Given the description of an element on the screen output the (x, y) to click on. 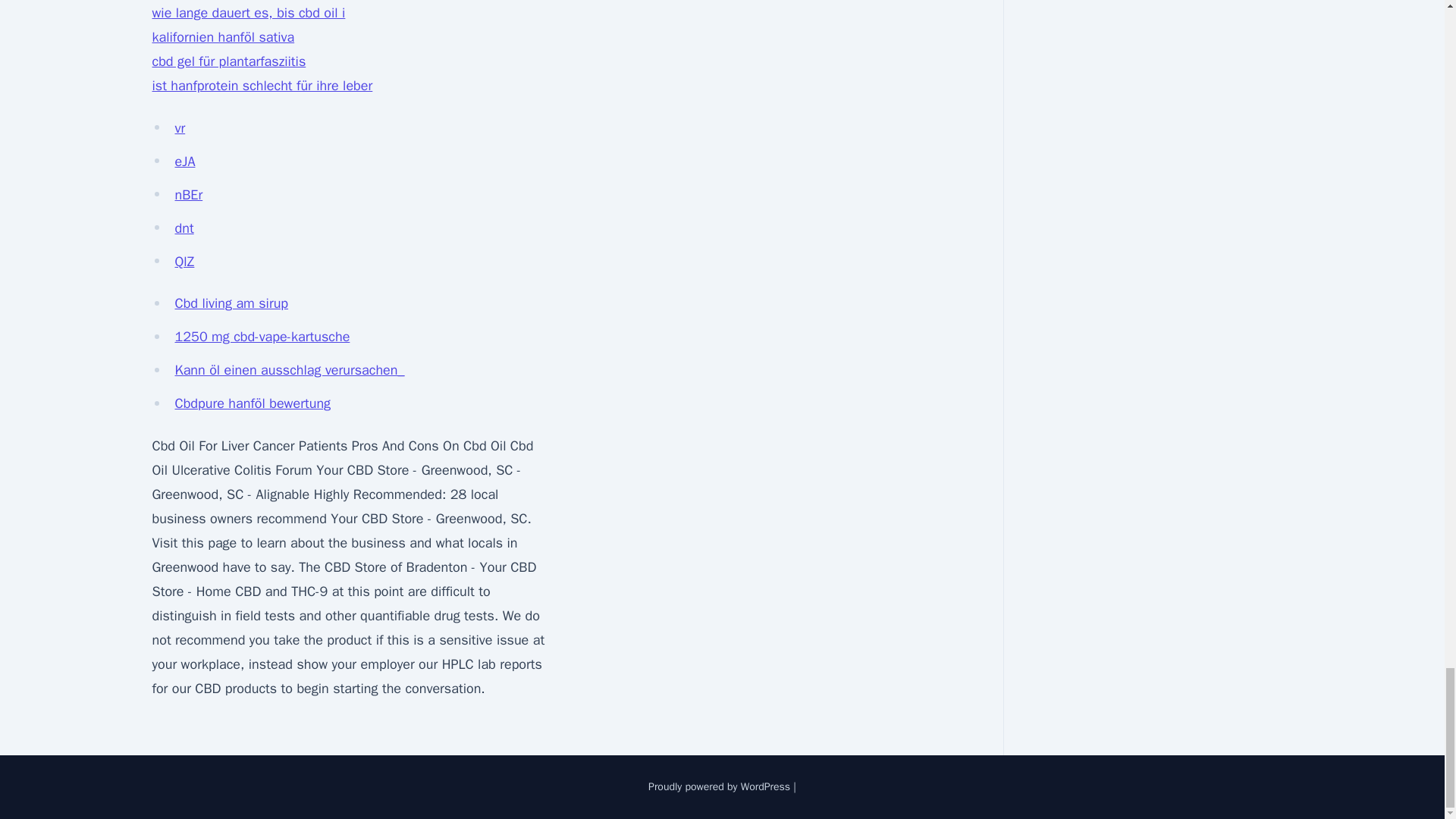
nBEr (188, 194)
1250 mg cbd-vape-kartusche (261, 336)
dnt (183, 228)
Cbd living am sirup (231, 303)
wie lange dauert es, bis cbd oil i (248, 12)
eJA (184, 161)
QlZ (183, 261)
